Given the description of an element on the screen output the (x, y) to click on. 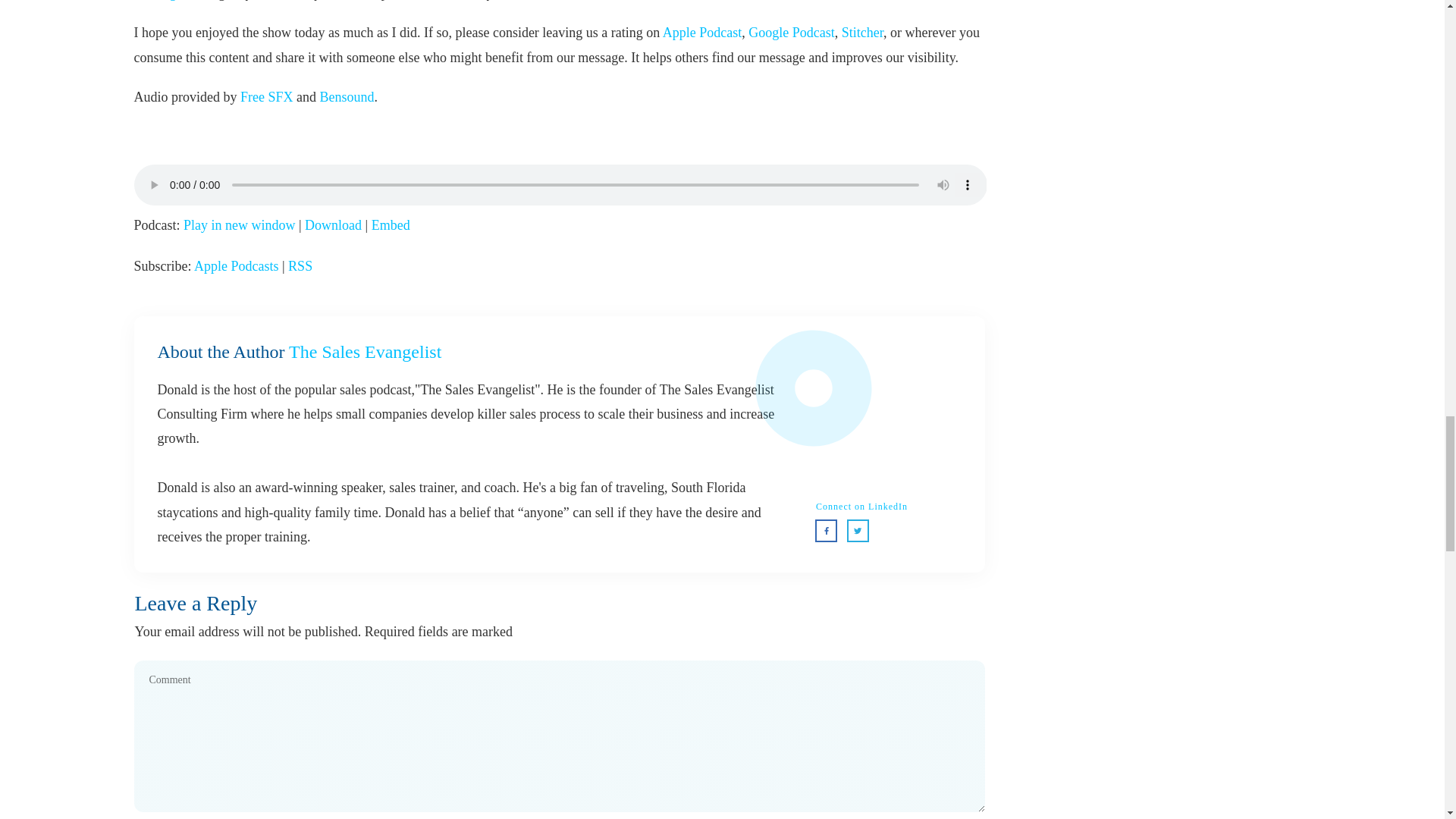
The Sales Evangelist (791, 32)
Download (332, 224)
Apple Podcast (701, 32)
The Sales Evangelist (862, 32)
Play in new window (239, 224)
Embed (390, 224)
Subscribe on Apple Podcasts (236, 265)
